Given the description of an element on the screen output the (x, y) to click on. 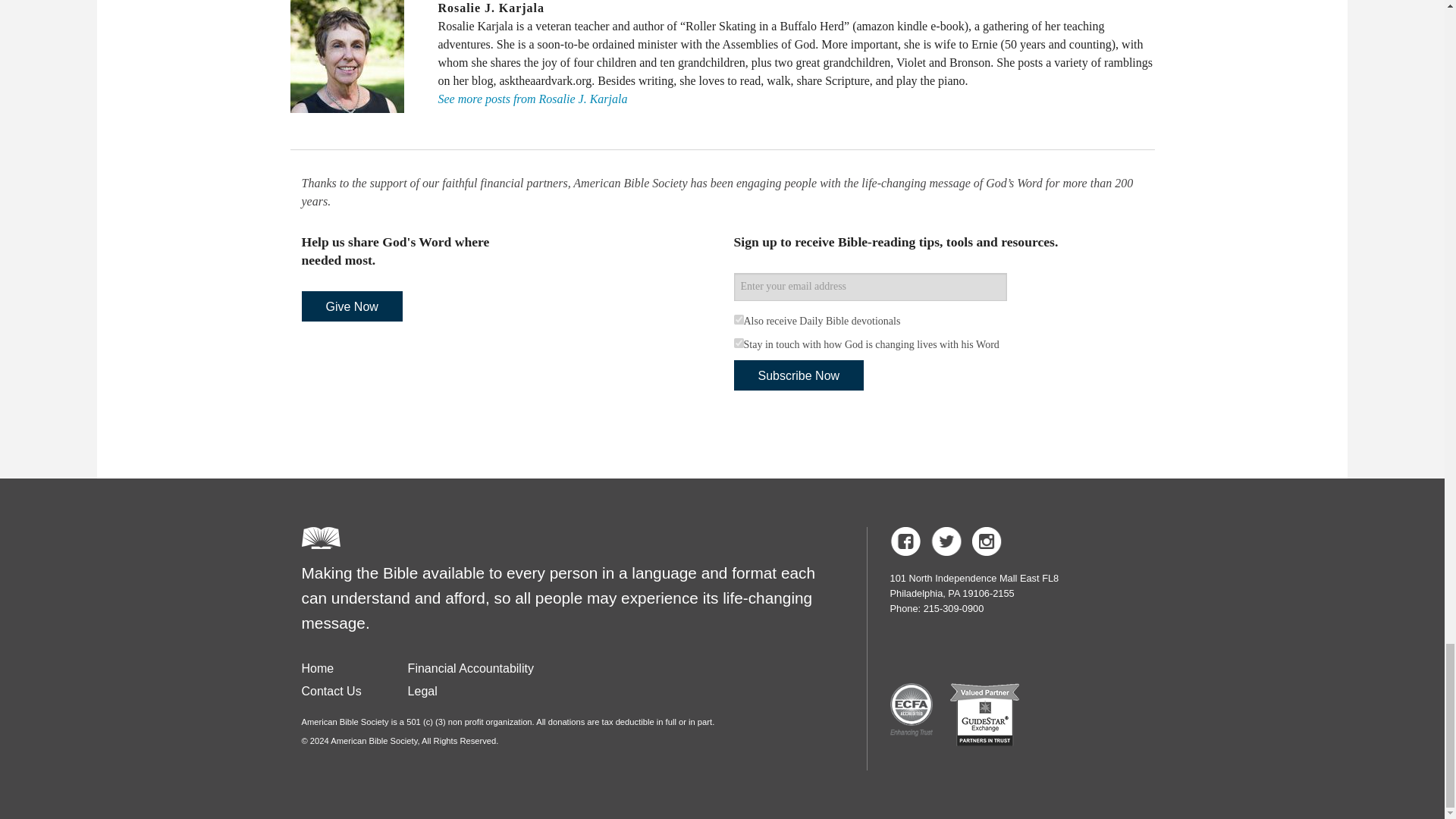
Legal (422, 690)
See more from Rosalie J. Karjala  (532, 98)
Facebook (904, 540)
Contact Us (331, 690)
Home (317, 667)
Financial Accountability (470, 667)
Give Now (352, 306)
Instagram (987, 540)
Subscribe Now (798, 374)
ministry-news (738, 343)
